Given the description of an element on the screen output the (x, y) to click on. 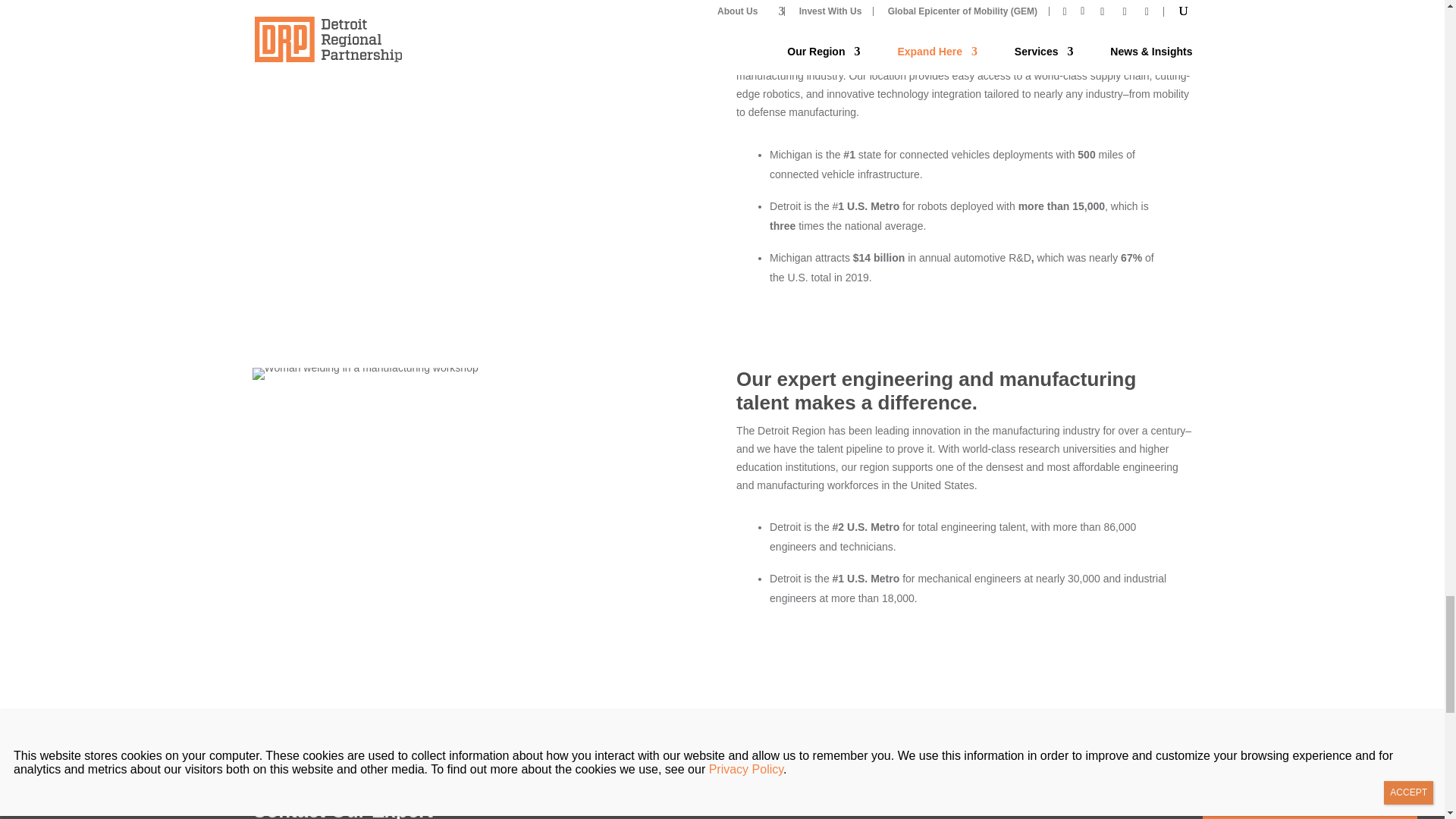
Car Industry: Robots In A Car Factory (364, 373)
Drp Industry Resource Temp (337, 3)
